Given the description of an element on the screen output the (x, y) to click on. 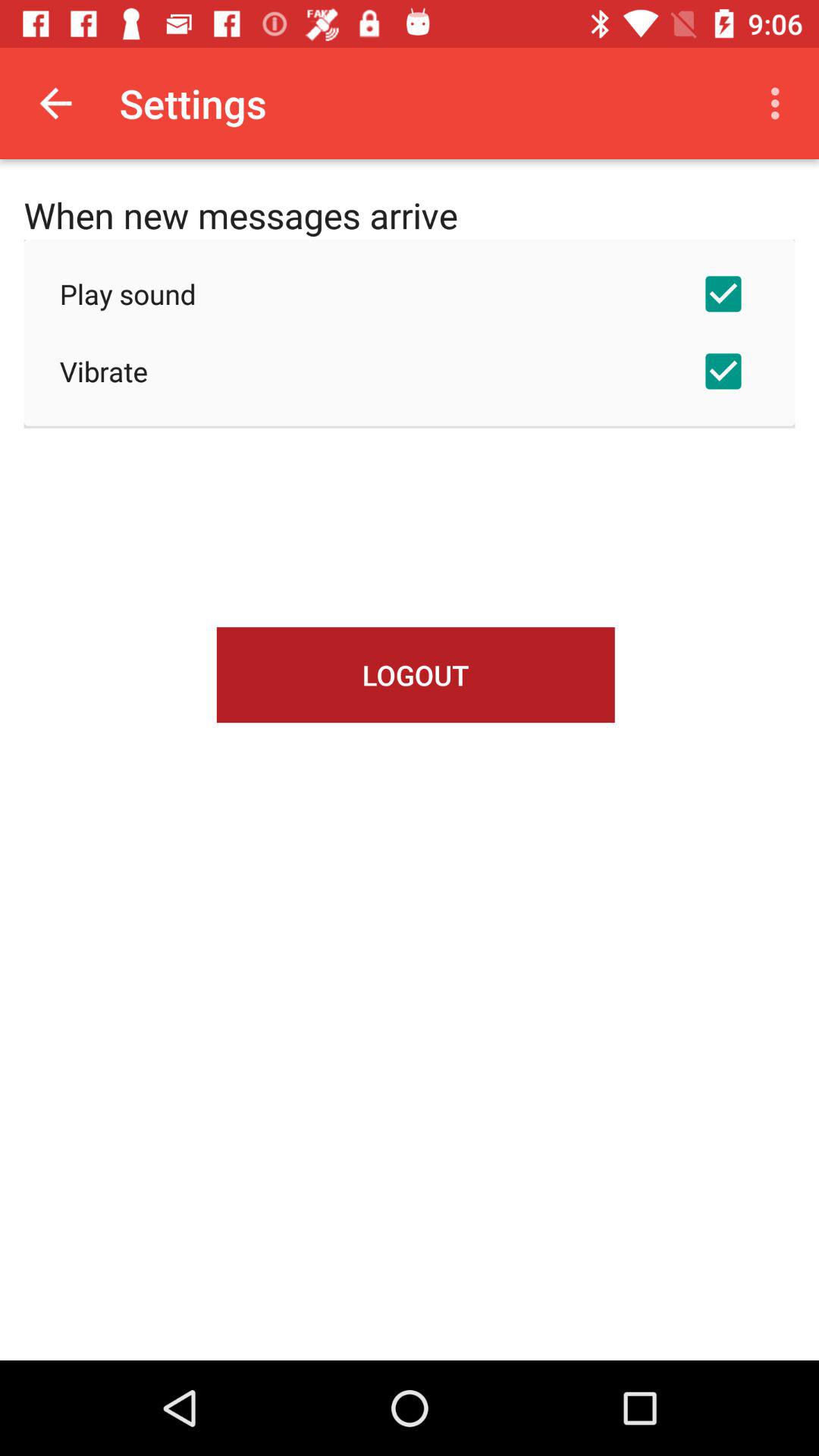
select vibrate (409, 371)
